Given the description of an element on the screen output the (x, y) to click on. 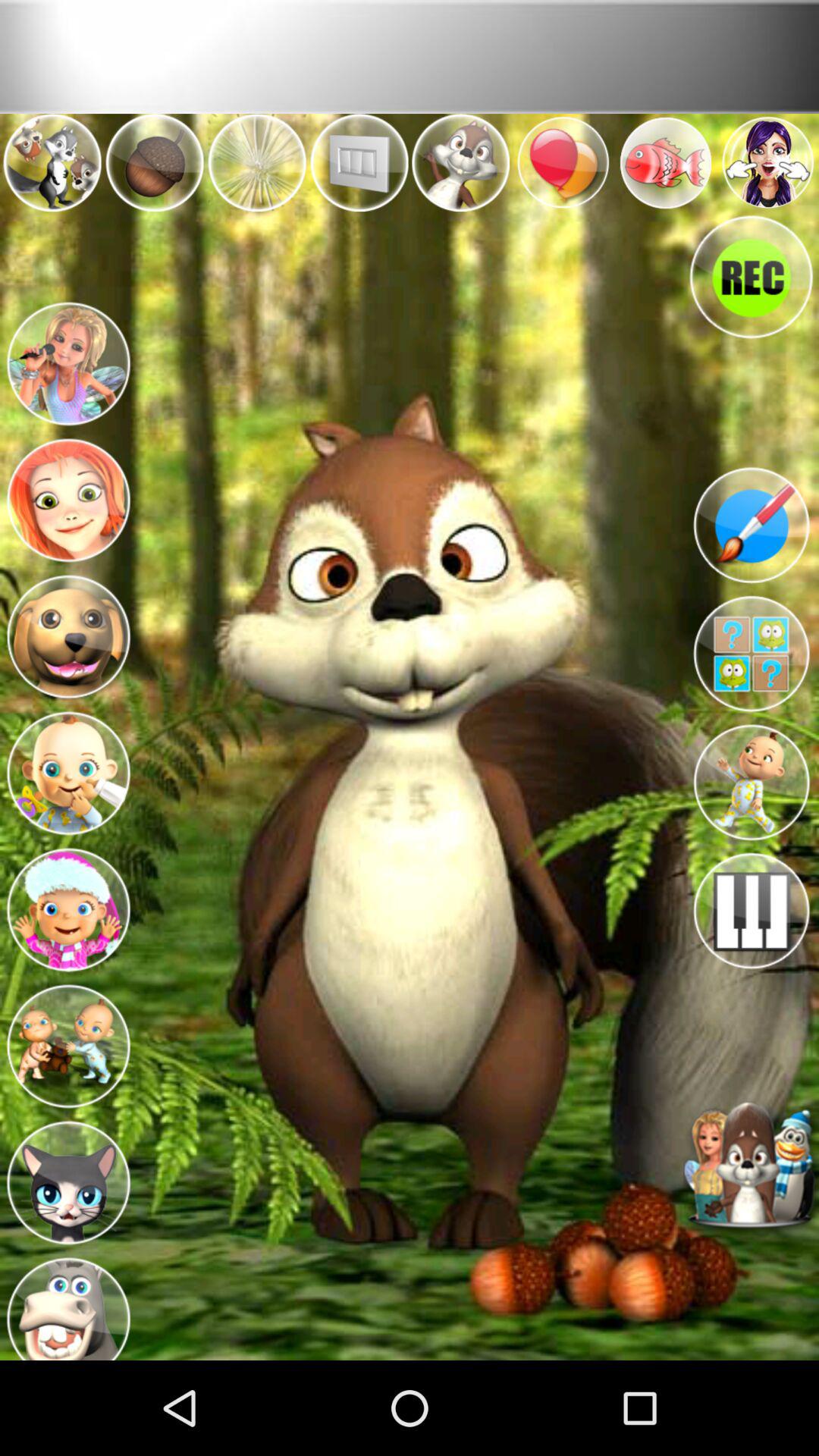
select character (68, 905)
